Given the description of an element on the screen output the (x, y) to click on. 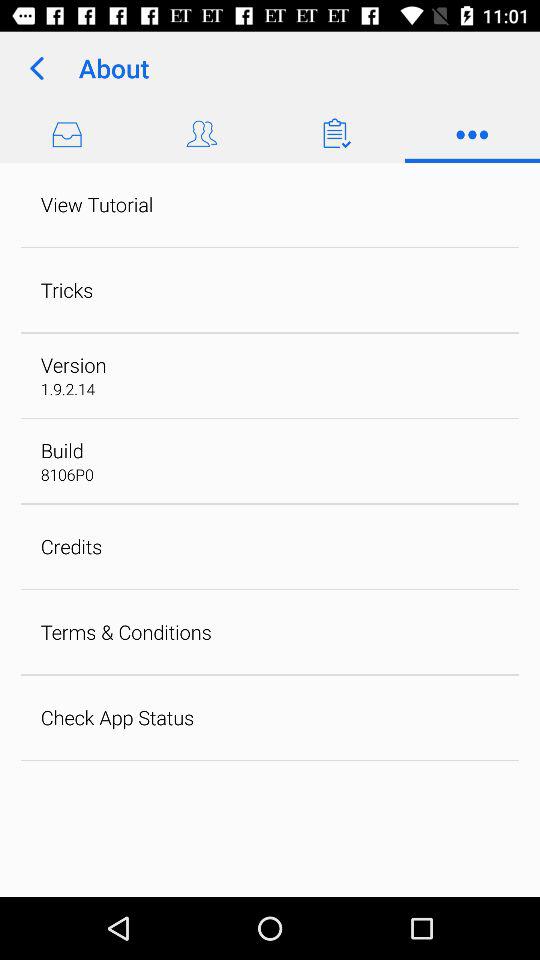
scroll until credits app (71, 546)
